Given the description of an element on the screen output the (x, y) to click on. 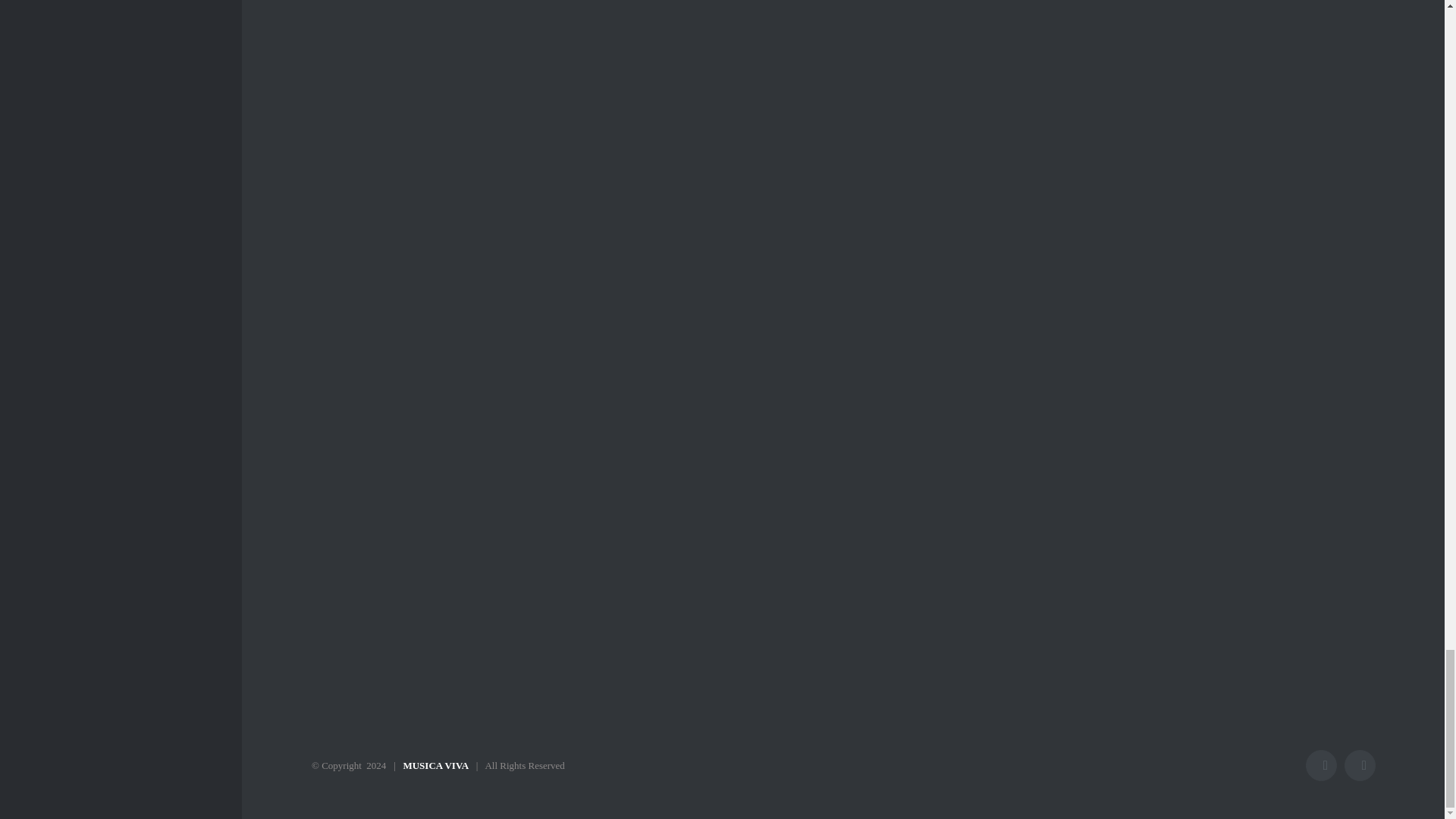
Facebook (1321, 765)
Vimeo (1359, 765)
Facebook (1321, 765)
Vimeo (1359, 765)
